Given the description of an element on the screen output the (x, y) to click on. 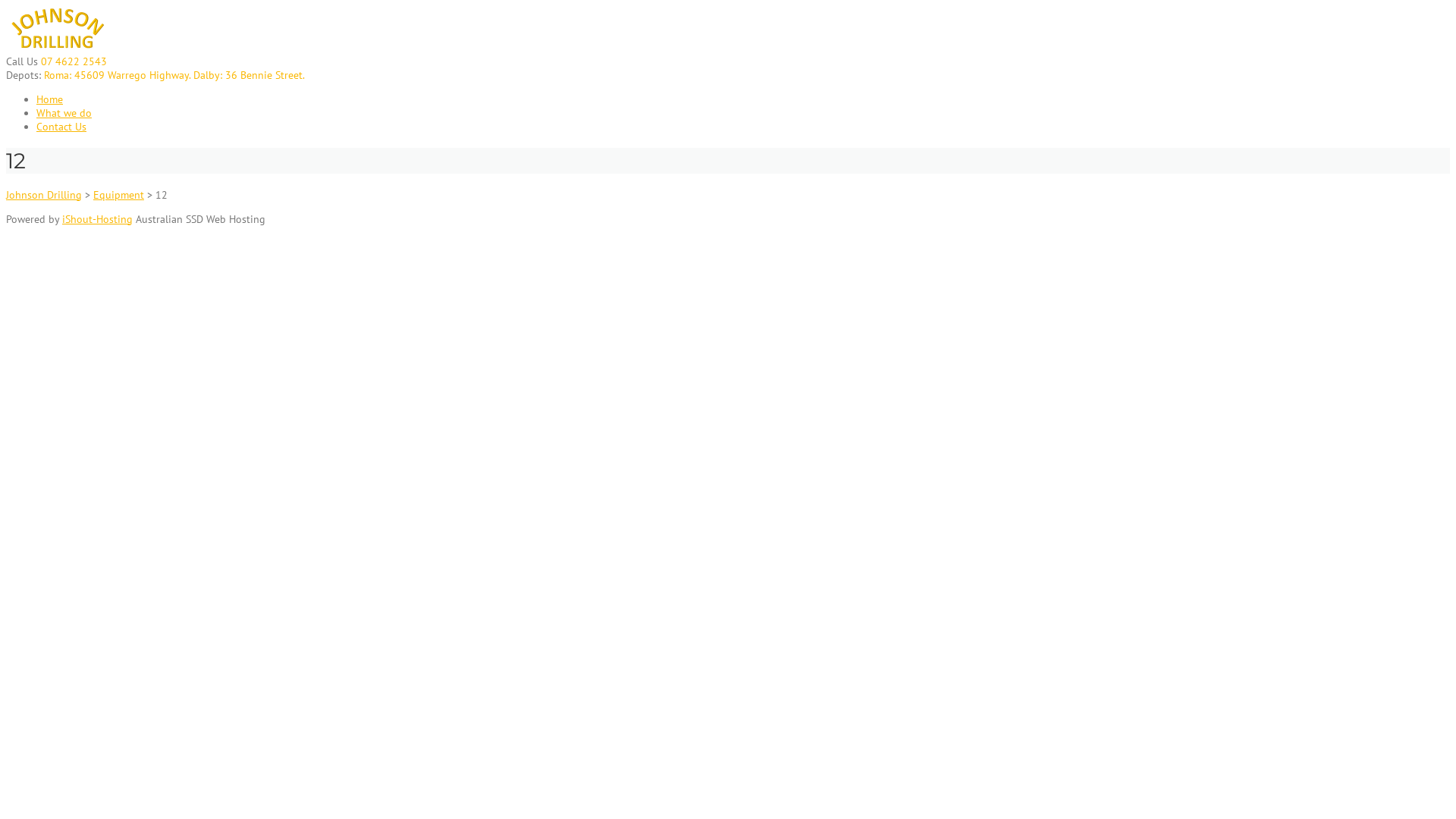
What we do Element type: text (63, 112)
iShout-Hosting Element type: text (97, 218)
Johnson Drilling Element type: text (43, 194)
Contact Us Element type: text (61, 126)
Johnson Drilling Element type: hover (57, 47)
Skip to content Element type: text (6, 6)
Equipment Element type: text (118, 194)
Home Element type: text (49, 99)
